Given the description of an element on the screen output the (x, y) to click on. 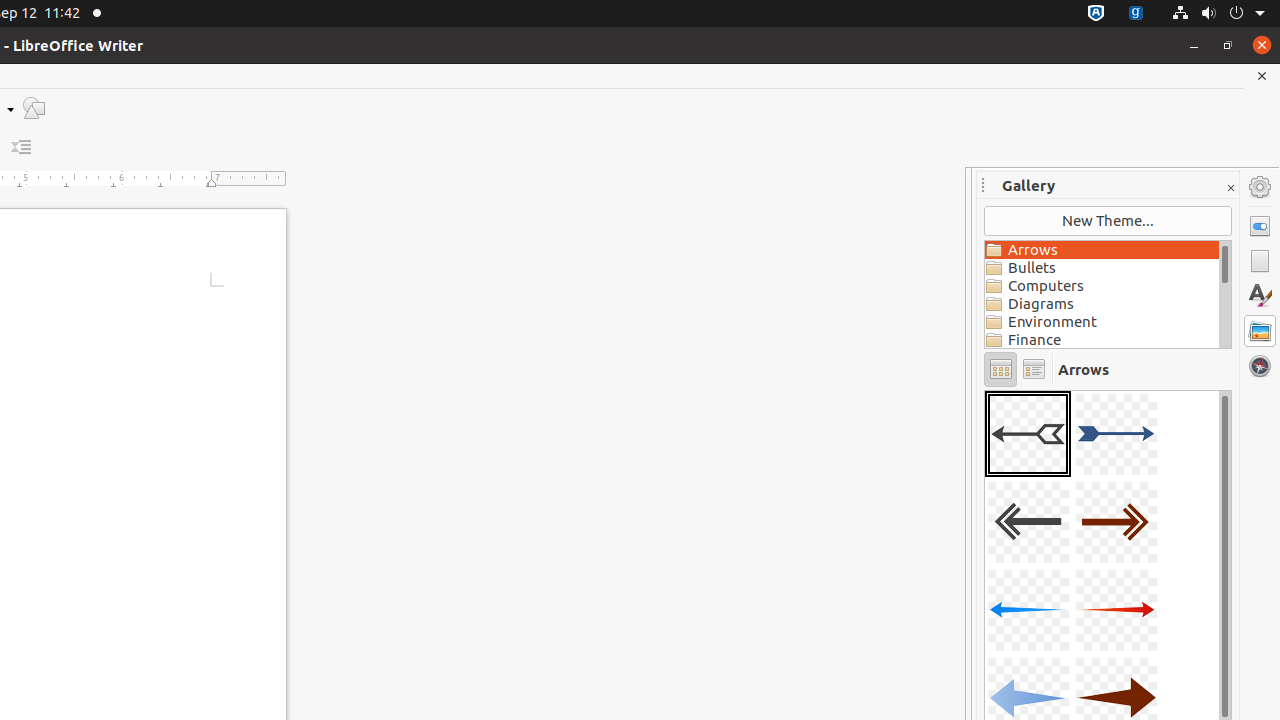
A05-Arrow-Blue-Left Element type: list-item (1028, 610)
A03-Arrow-Gray-Left Element type: list-item (1028, 522)
A06-Arrow-Red-Right Element type: list-item (1116, 610)
Computers Element type: list-item (1102, 286)
org.kde.StatusNotifierItem-14077-1 Element type: menu (1136, 13)
